Given the description of an element on the screen output the (x, y) to click on. 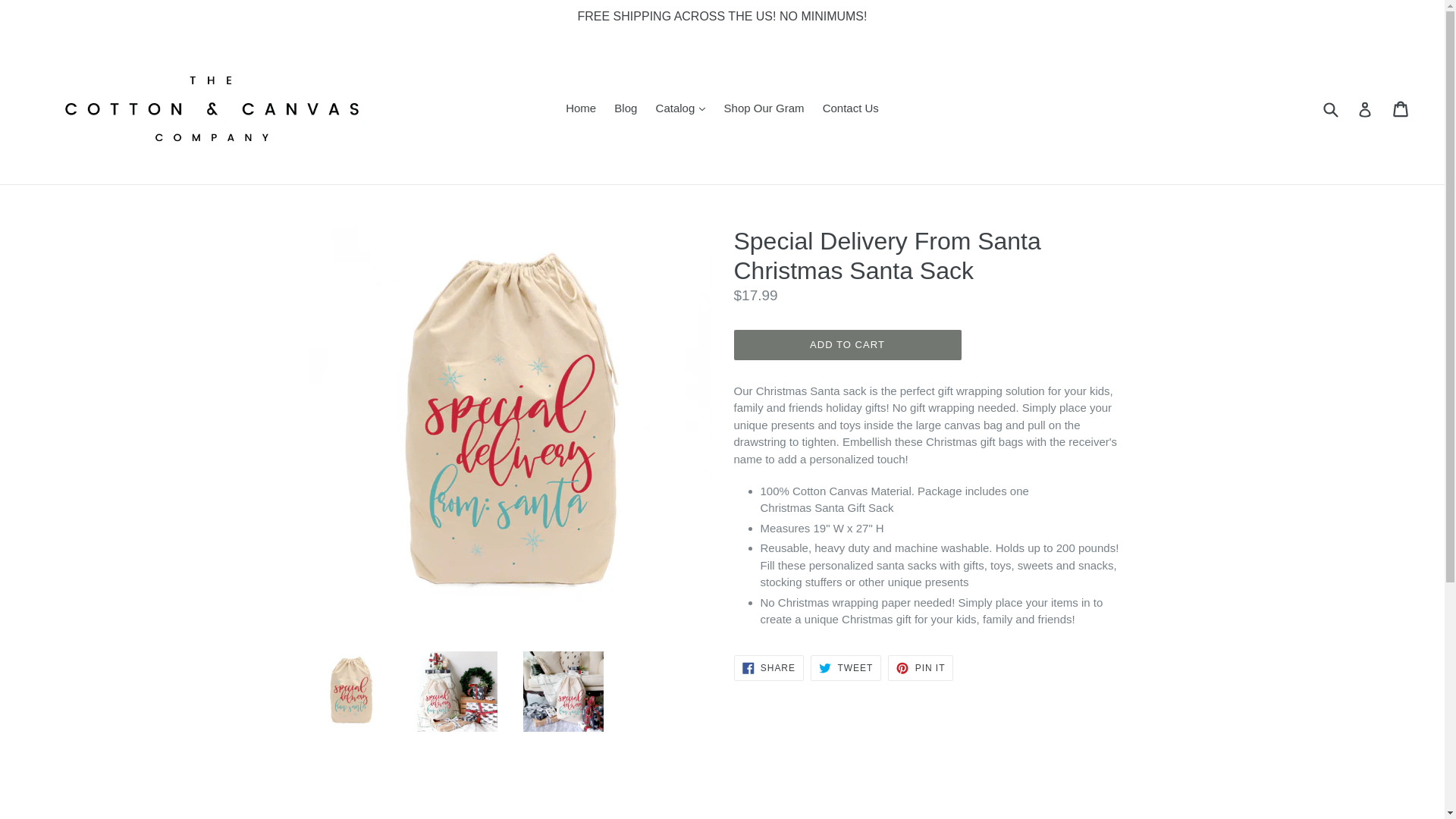
Pin on Pinterest (920, 667)
Share on Facebook (768, 667)
Blog (626, 108)
Home (580, 108)
Tweet on Twitter (845, 667)
